Given the description of an element on the screen output the (x, y) to click on. 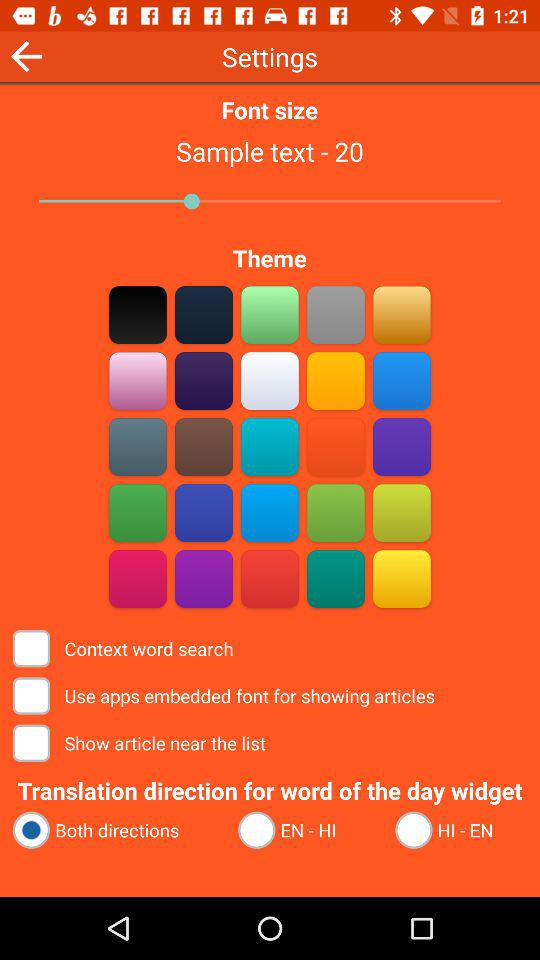
change app theme color (335, 314)
